Given the description of an element on the screen output the (x, y) to click on. 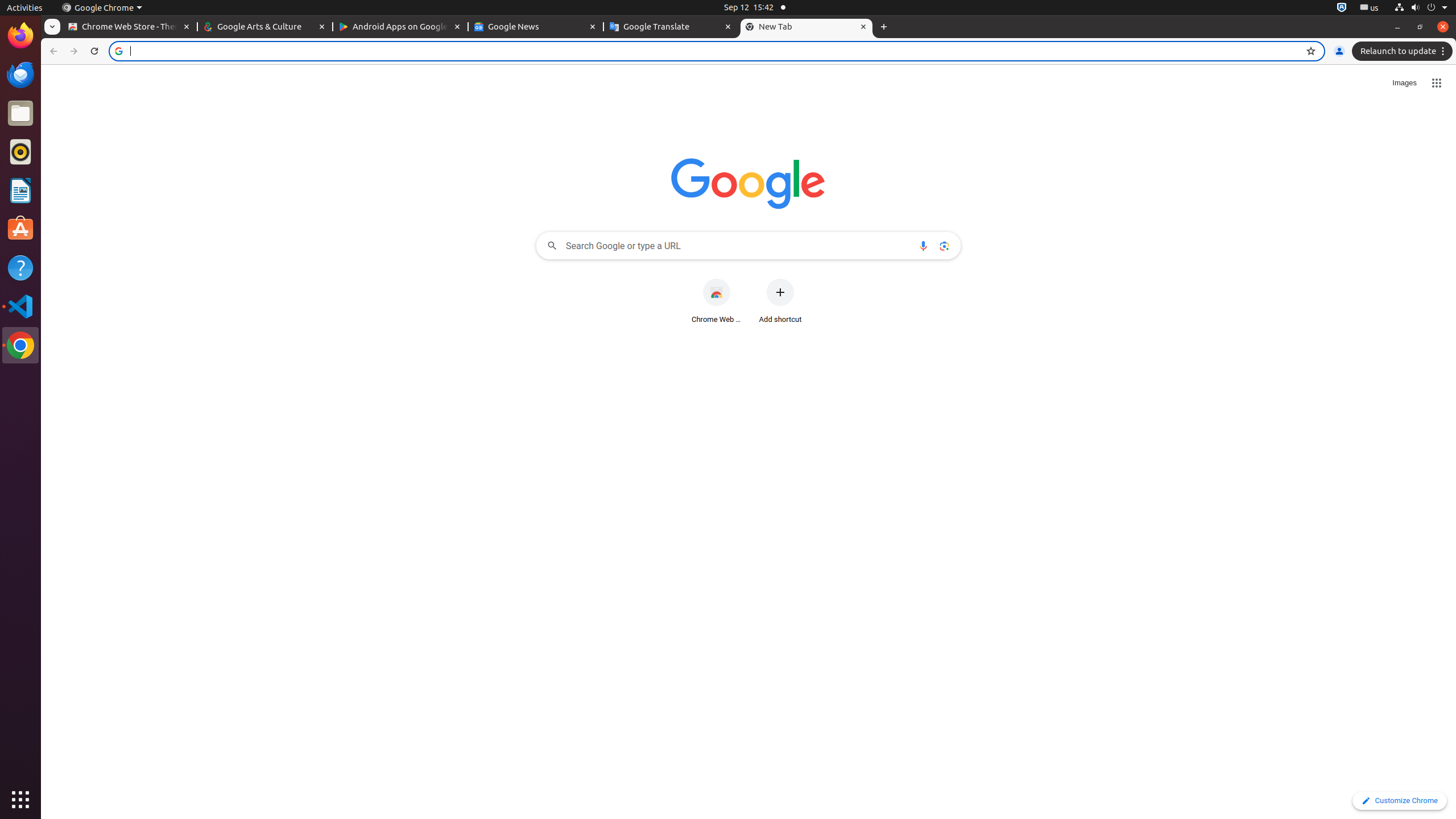
Thunderbird Mail Element type: push-button (20, 74)
Google Arts & Culture - Memory usage - 58.4 MB Element type: page-tab (264, 26)
Google News - Memory usage - 49.7 MB Element type: page-tab (535, 26)
Google Chrome Element type: push-button (20, 344)
Reload Element type: push-button (94, 50)
